Given the description of an element on the screen output the (x, y) to click on. 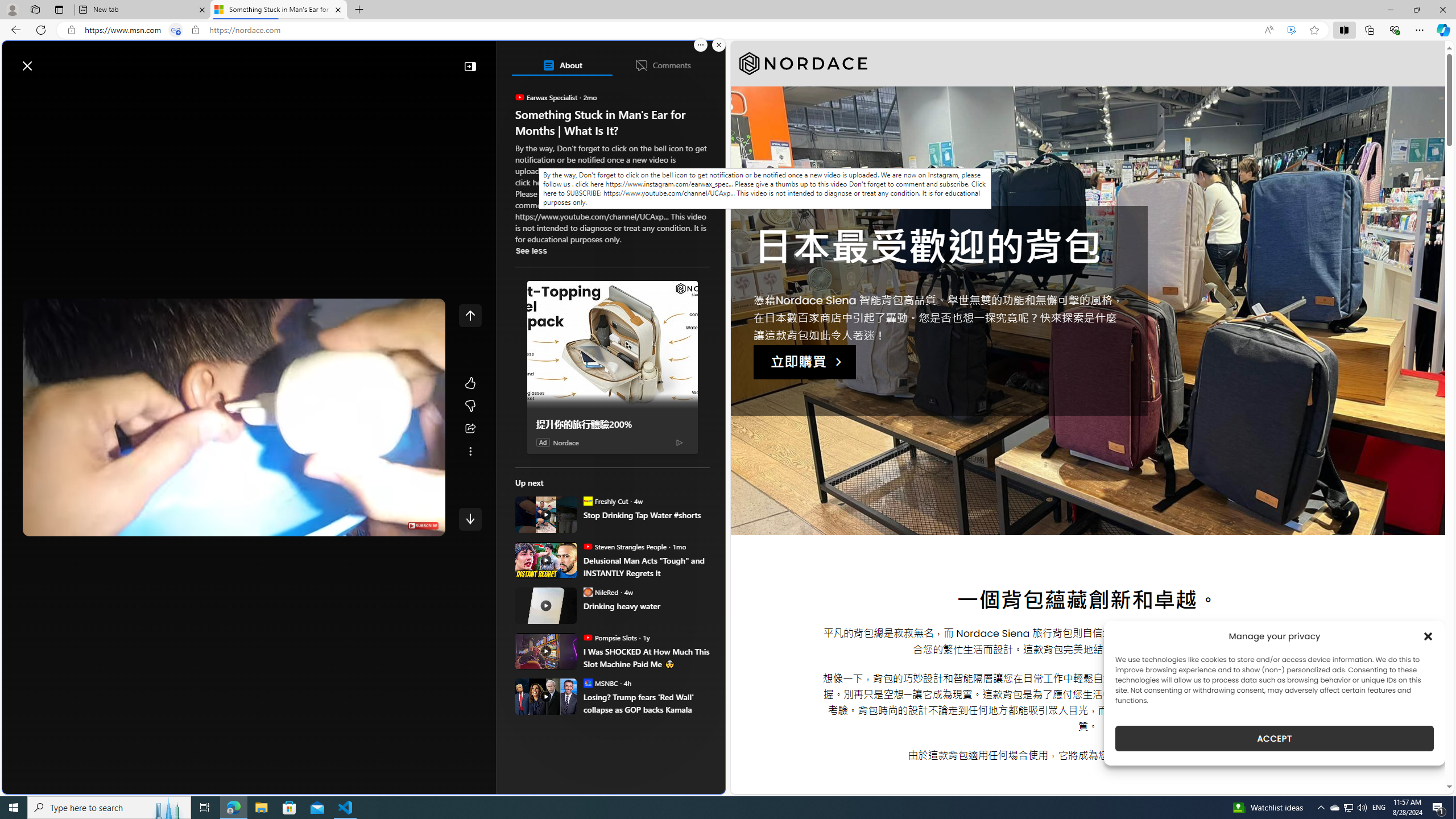
Ad (542, 442)
NileRed (587, 591)
Pause (k) (42, 525)
Unmute (m) (66, 525)
Watch (145, 92)
Notifications (676, 60)
Drinking heavy water (545, 605)
Discover (52, 92)
Feedback (681, 784)
Stop Drinking Tap Water #shorts (646, 514)
Skip to footer (46, 59)
